Given the description of an element on the screen output the (x, y) to click on. 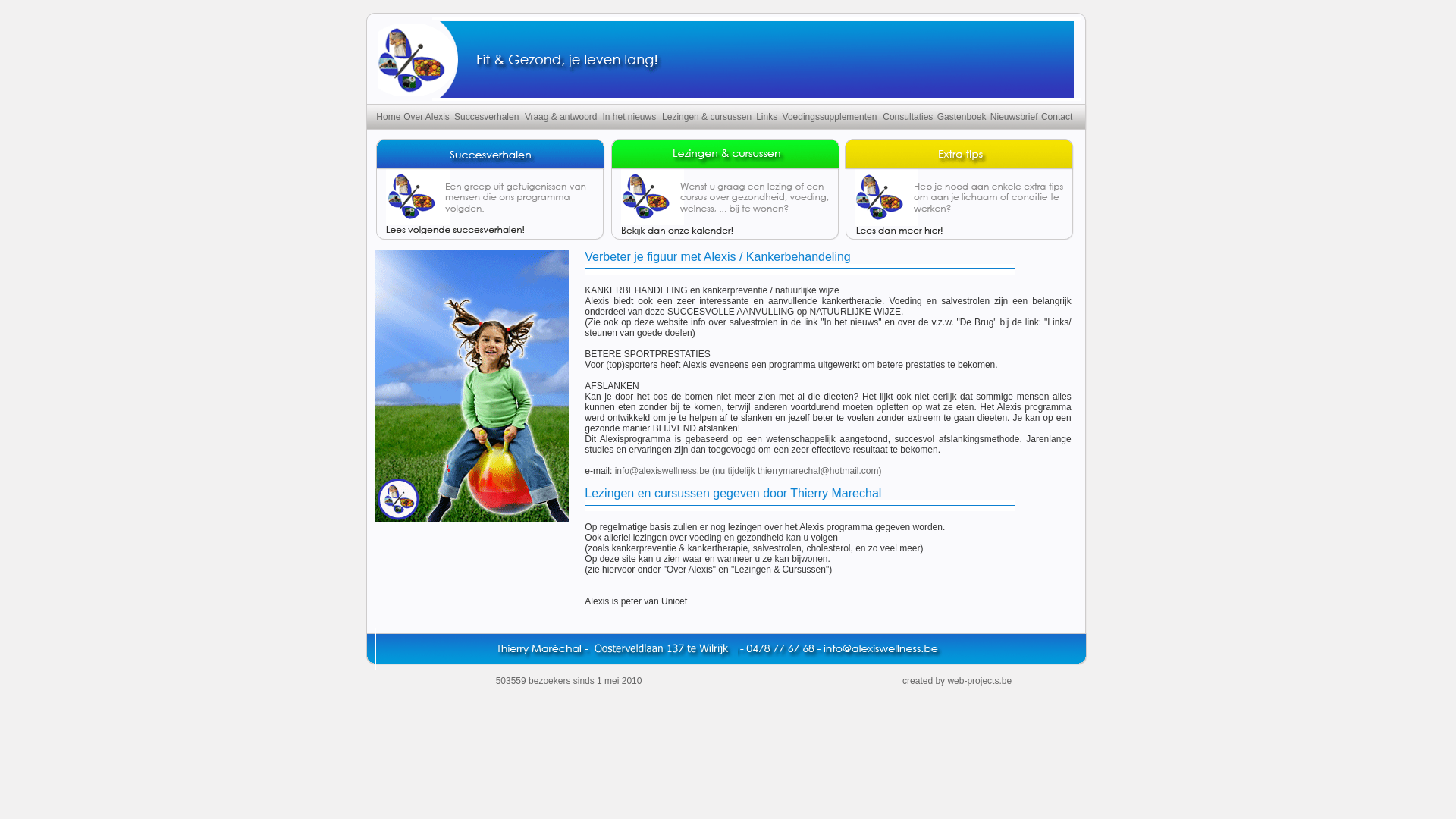
Lezingen & cursussen Element type: text (706, 116)
Links Element type: text (766, 116)
Consultaties Element type: text (907, 116)
Succesverhalen Element type: text (486, 116)
web-projects.be Element type: text (979, 680)
Home Element type: text (388, 116)
Voedingssupplementen Element type: text (829, 116)
Vraag & antwoord Element type: text (560, 116)
Over Alexis Element type: text (426, 116)
Gastenboek Element type: text (961, 116)
Contact Element type: text (1056, 116)
Nieuwsbrief Element type: text (1014, 116)
In het nieuws Element type: text (628, 116)
